Given the description of an element on the screen output the (x, y) to click on. 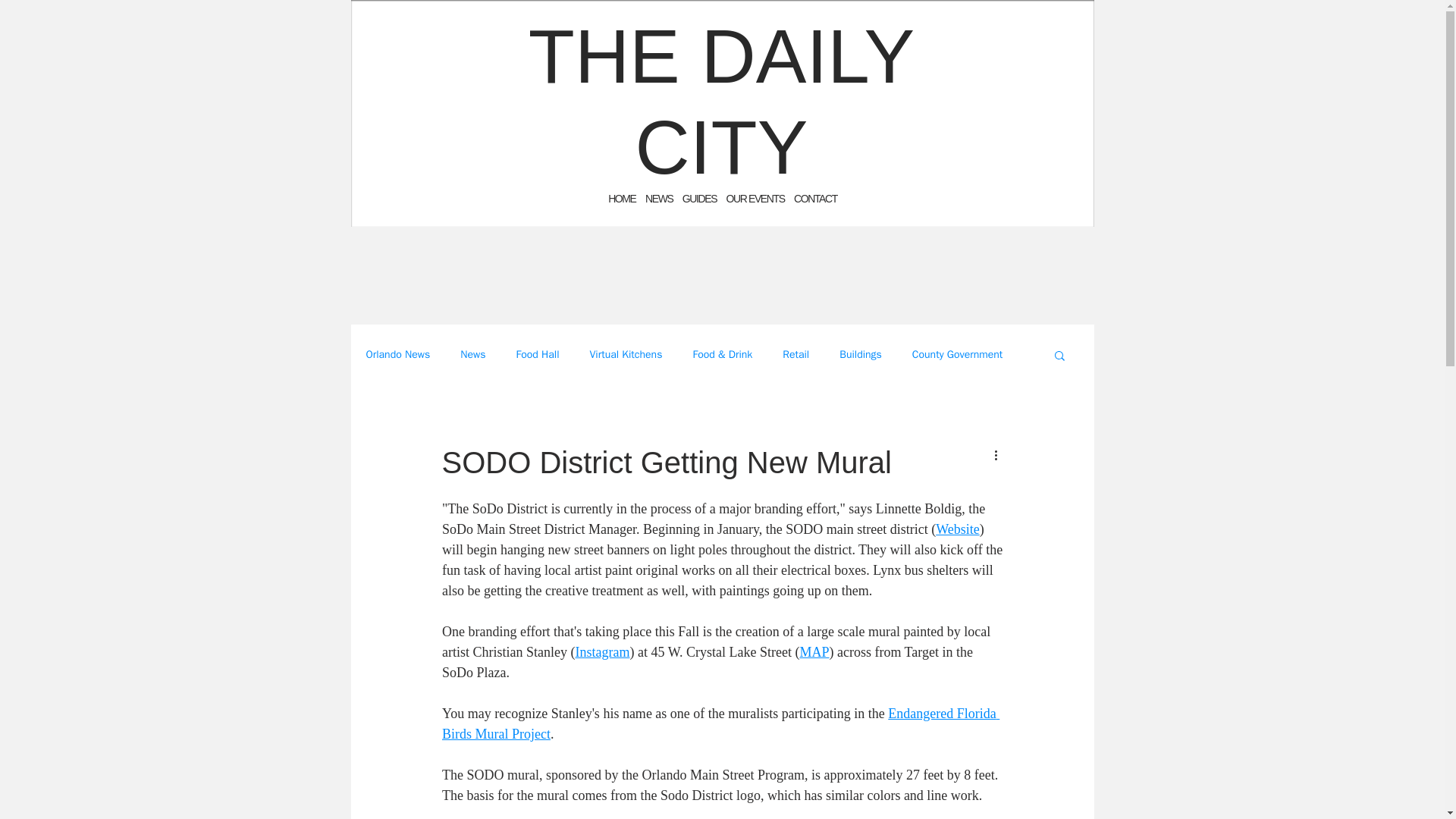
HOME (621, 198)
Orlando News (397, 354)
Food Hall (537, 354)
Buildings (861, 354)
Website (957, 529)
Virtual Kitchens (625, 354)
CONTACT (815, 198)
OUR EVENTS (755, 198)
Retail (796, 354)
NEWS (658, 198)
